Given the description of an element on the screen output the (x, y) to click on. 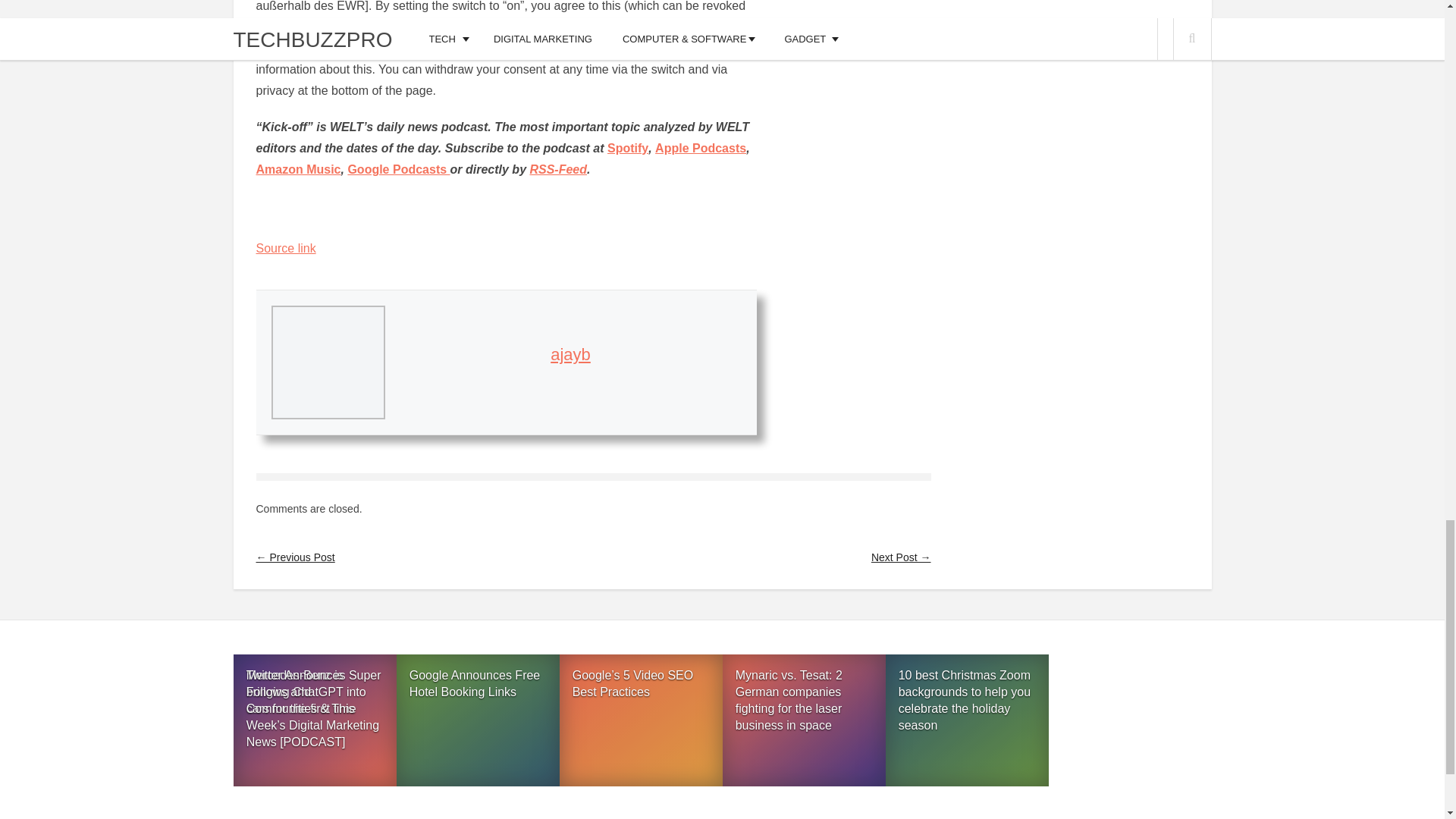
Google Podcasts (398, 169)
Amazon Music (298, 169)
Spotify (627, 147)
Google Announces Free Hotel Booking Links (477, 722)
Source link (285, 247)
